Given the description of an element on the screen output the (x, y) to click on. 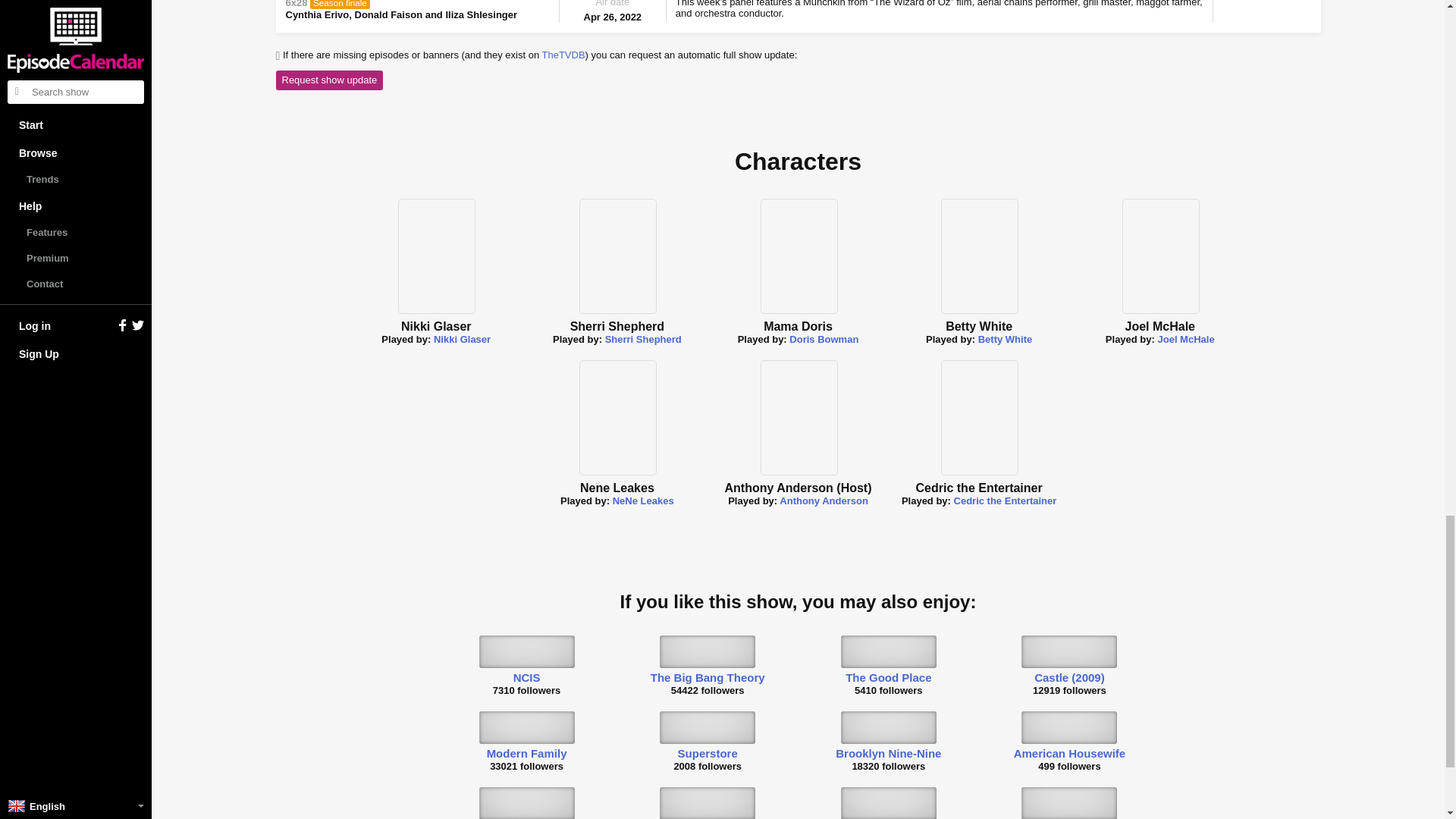
TheTVDB (563, 54)
Request show update (330, 79)
